Given the description of an element on the screen output the (x, y) to click on. 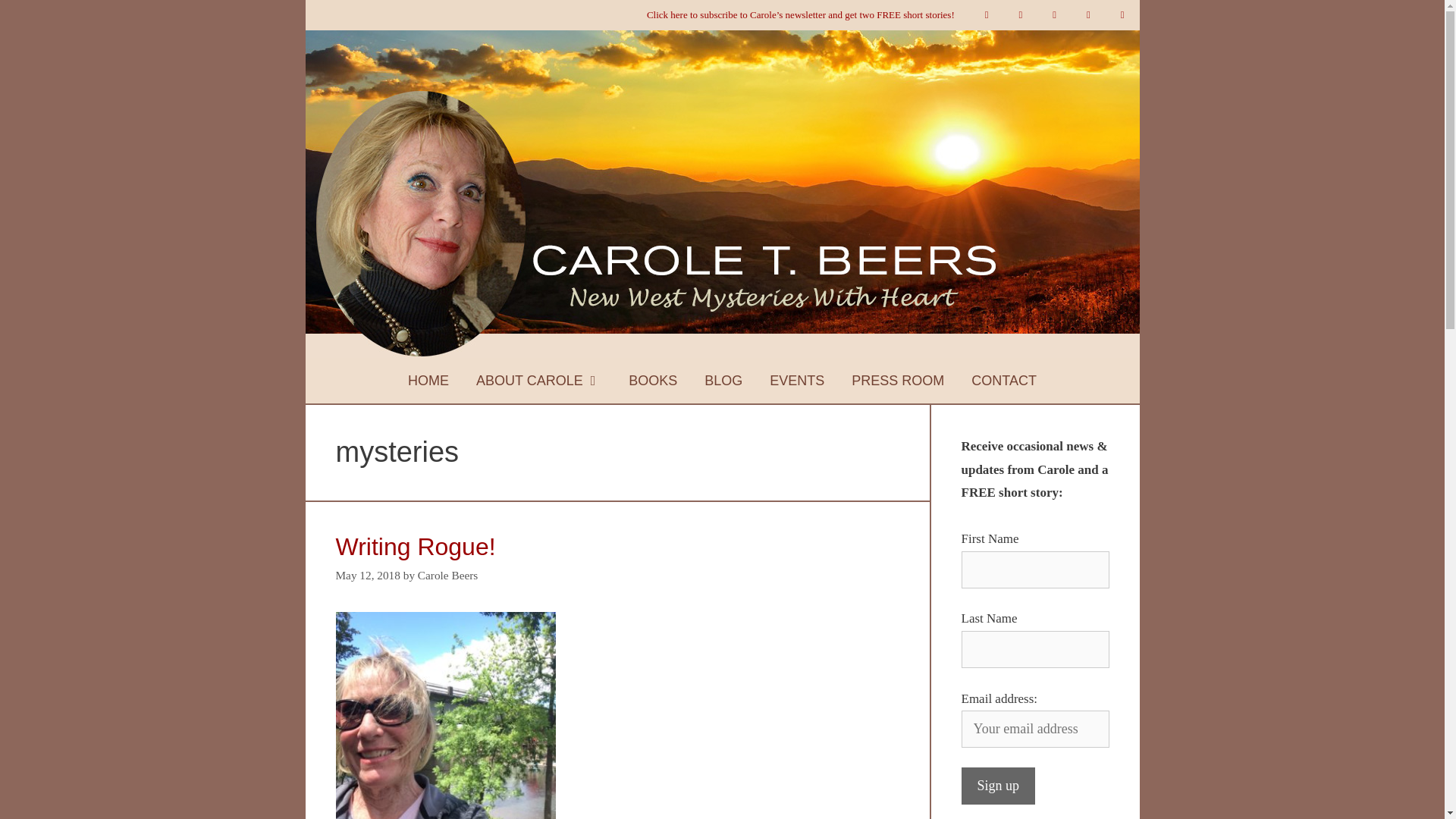
Sign up (997, 785)
Carole Beers (447, 574)
Sign up (997, 785)
BOOKS (652, 380)
View all posts by Carole Beers (447, 574)
EVENTS (796, 380)
ABOUT CAROLE (538, 380)
CONTACT (1003, 380)
HOME (428, 380)
Writing Rogue! (414, 546)
